Given the description of an element on the screen output the (x, y) to click on. 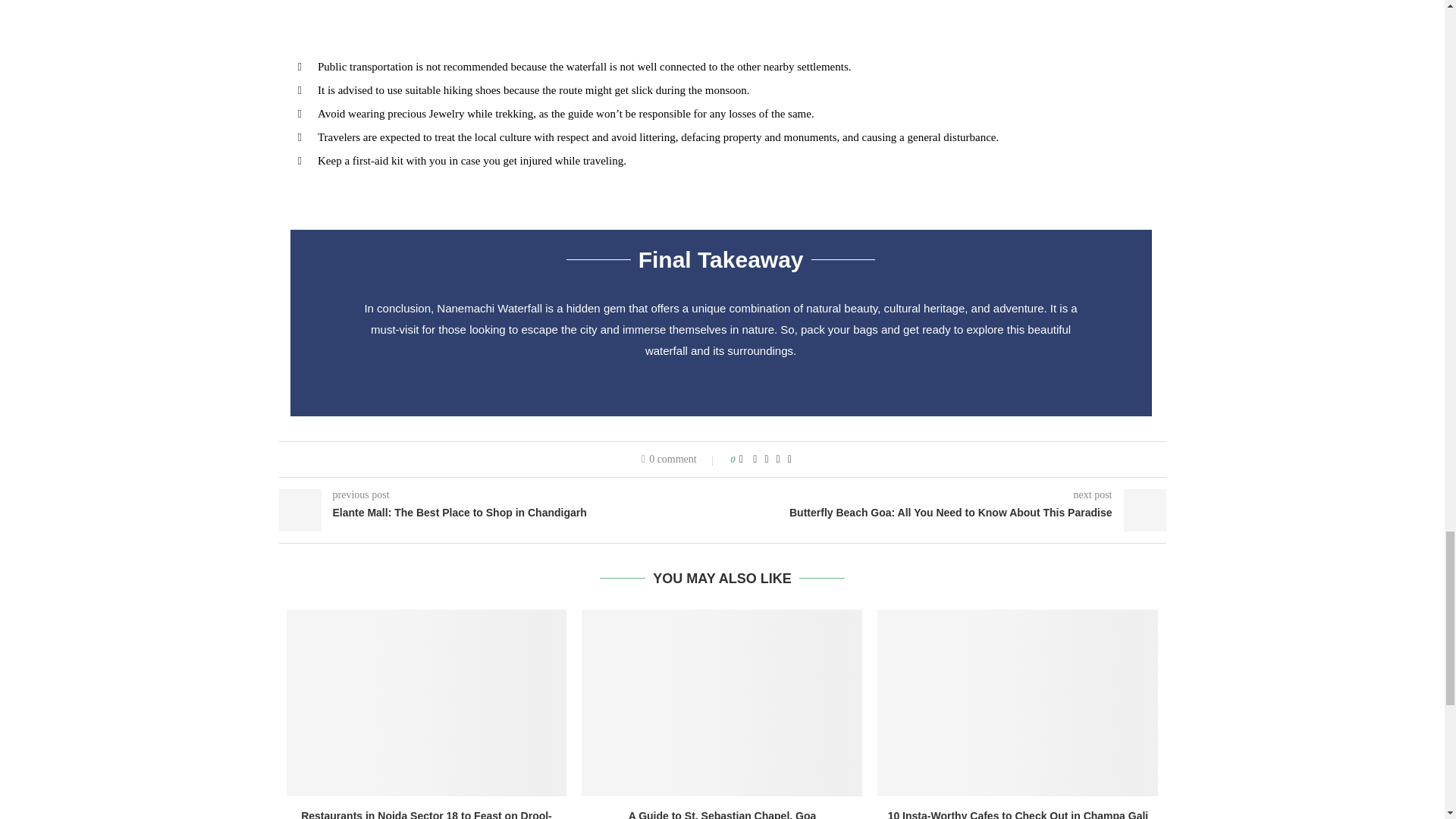
10 Insta-Worthy Cafes to Check Out in Champa Gali (1018, 814)
10 Insta-Worthy Cafes to Check Out in Champa Gali (1017, 702)
A Guide to St. Sebastian Chapel, Goa (720, 702)
A Guide to St. Sebastian Chapel, Goa (722, 814)
Elante Mall: The Best Place to Shop in Chandigarh (500, 513)
